Given the description of an element on the screen output the (x, y) to click on. 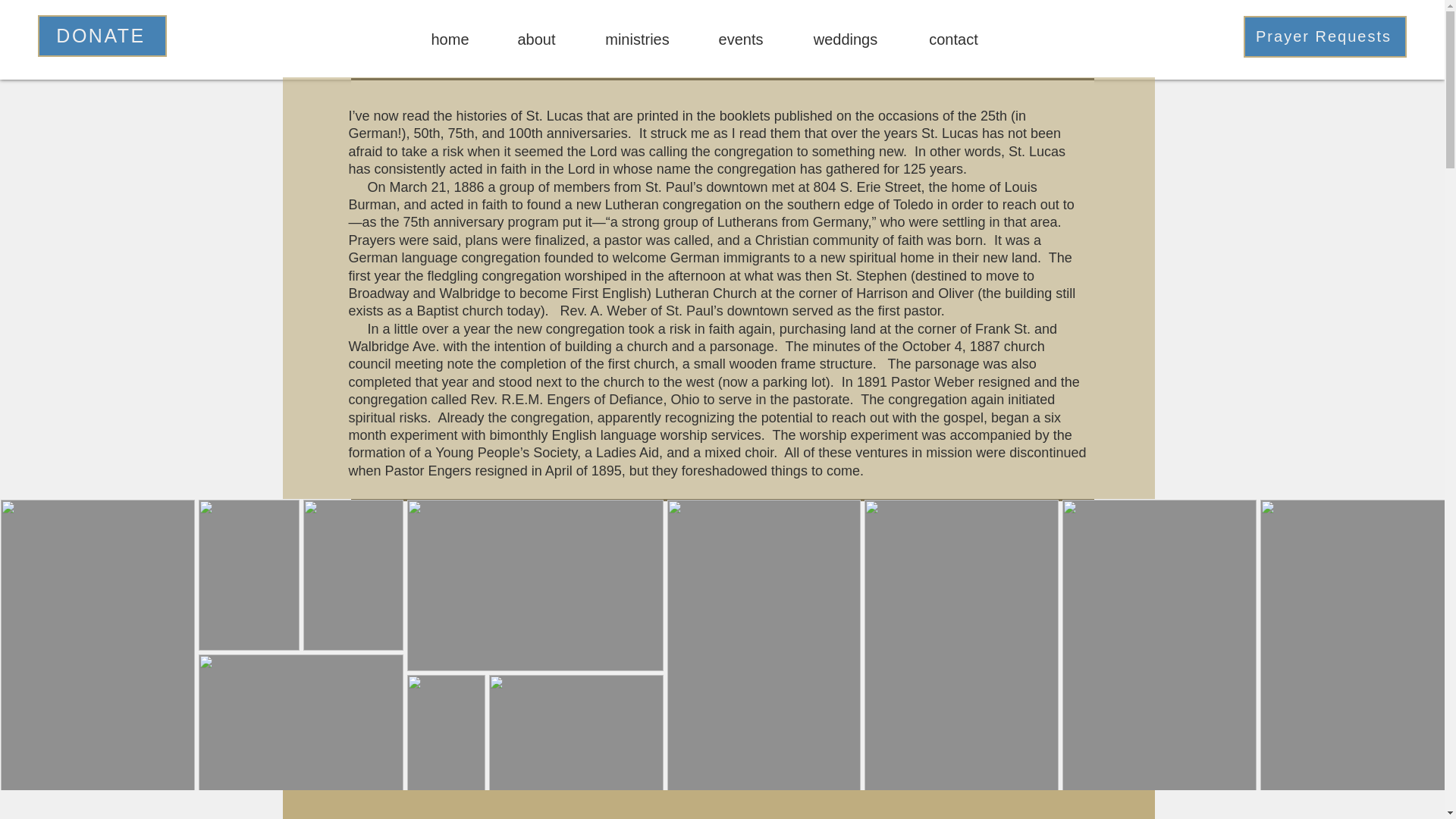
Prayer Requests (1324, 36)
DONATE (102, 35)
home (449, 39)
contact (953, 39)
ministries (636, 39)
weddings (845, 39)
events (740, 39)
